Given the description of an element on the screen output the (x, y) to click on. 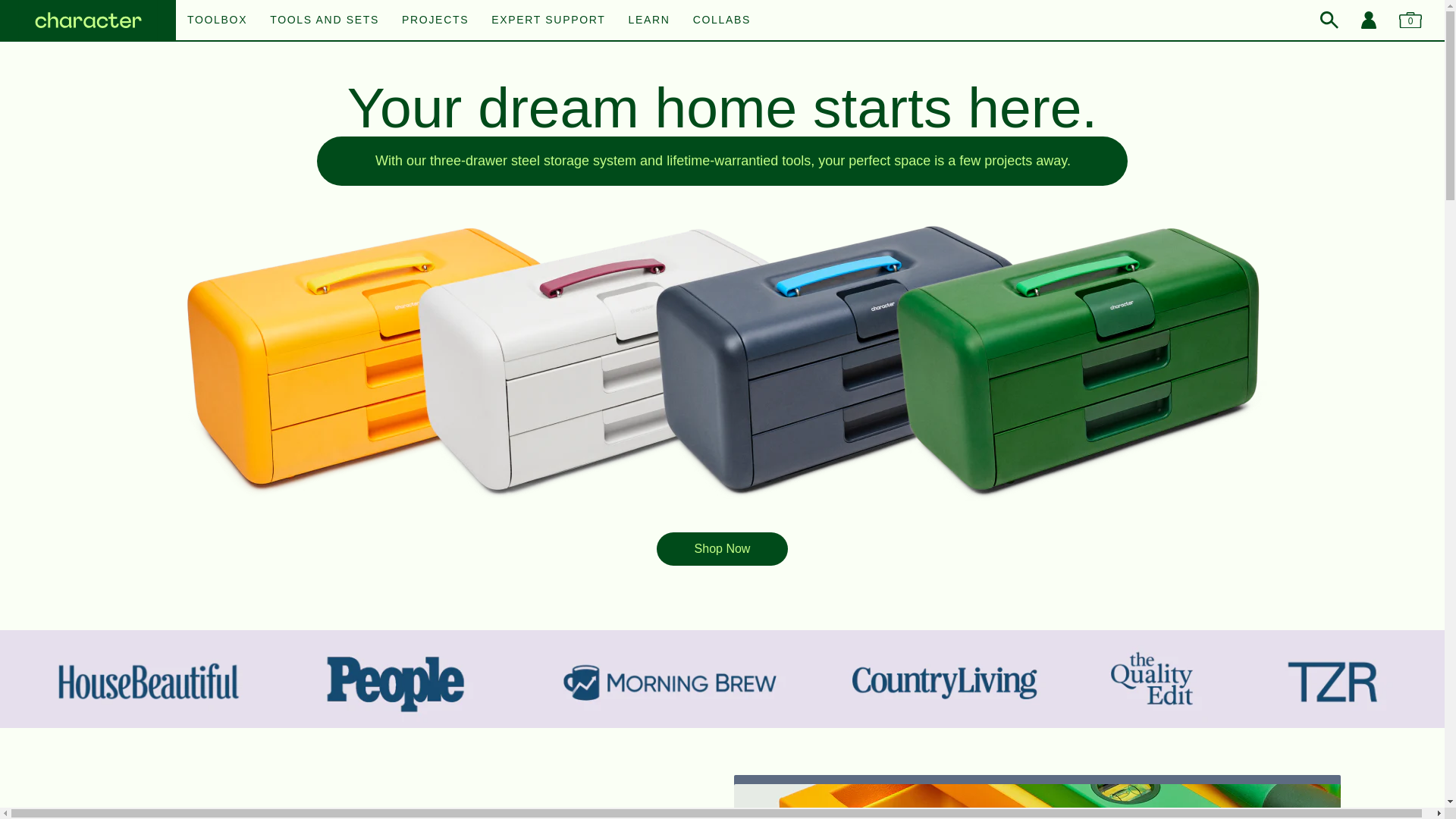
TOOLBOX (217, 19)
SHOP ALL COLLABS (722, 10)
Character Logo (88, 20)
0 (1409, 19)
Character Logo (88, 20)
TOOLS AND SETS (323, 19)
EXPERT SUPPORT (548, 19)
PROJECTS (434, 19)
Login (1368, 20)
